Given the description of an element on the screen output the (x, y) to click on. 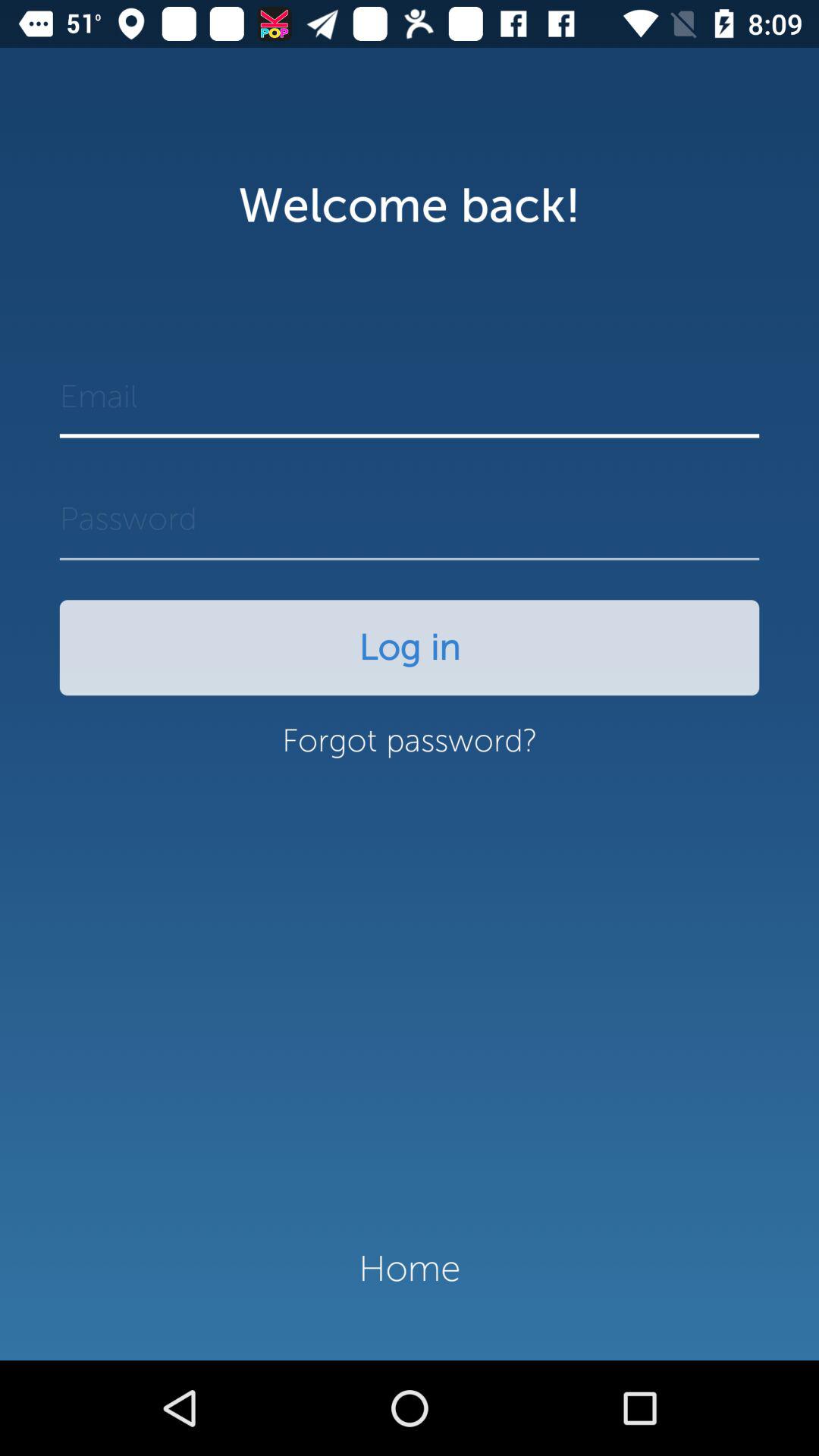
launch home item (409, 1268)
